Given the description of an element on the screen output the (x, y) to click on. 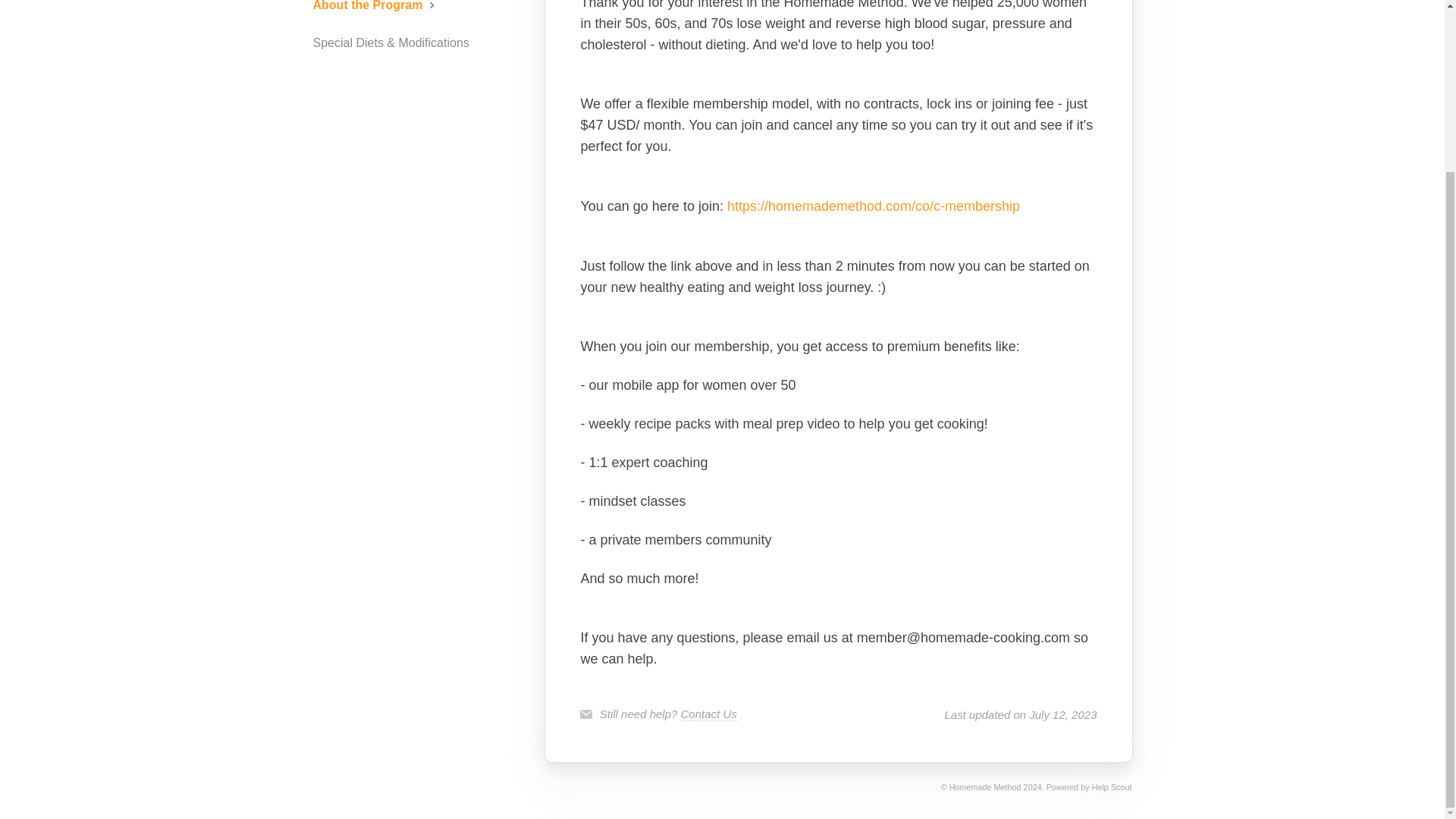
About the Program (381, 8)
Homemade Method (985, 786)
Contact Us (708, 714)
Help Scout (1112, 786)
